Given the description of an element on the screen output the (x, y) to click on. 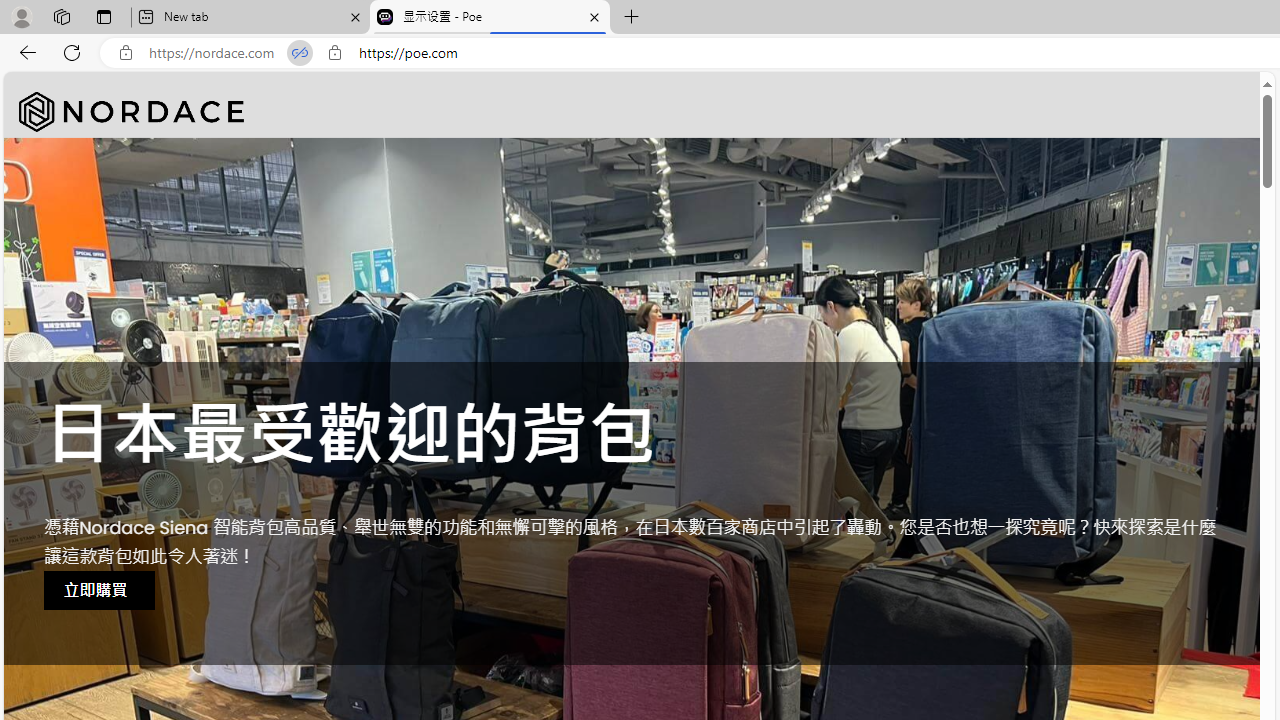
Tabs in split screen (299, 53)
